Given the description of an element on the screen output the (x, y) to click on. 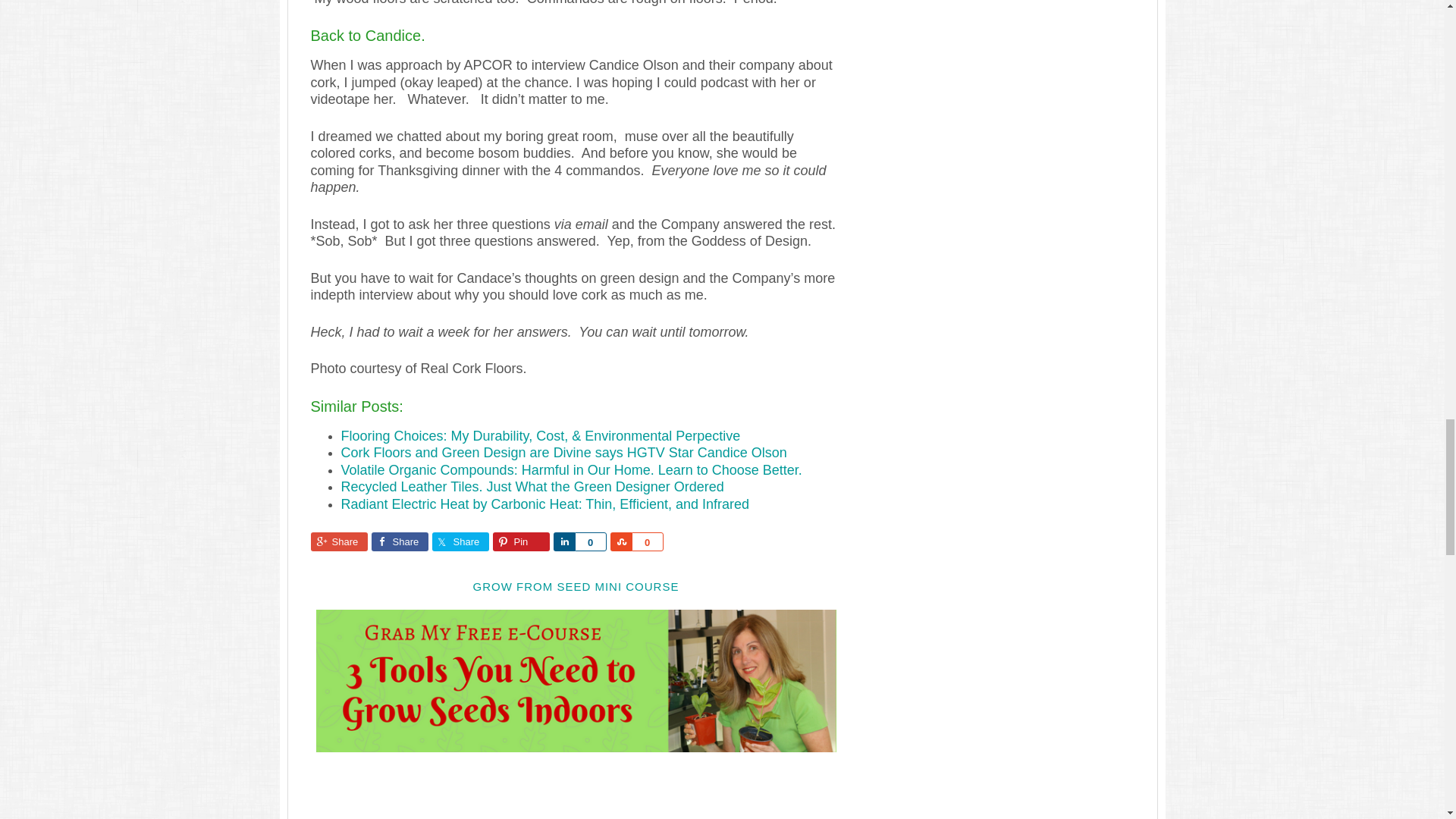
Grow From Seed Mini Course (575, 744)
Recycled Leather Tiles. Just What the Green Designer Ordered (531, 486)
